Given the description of an element on the screen output the (x, y) to click on. 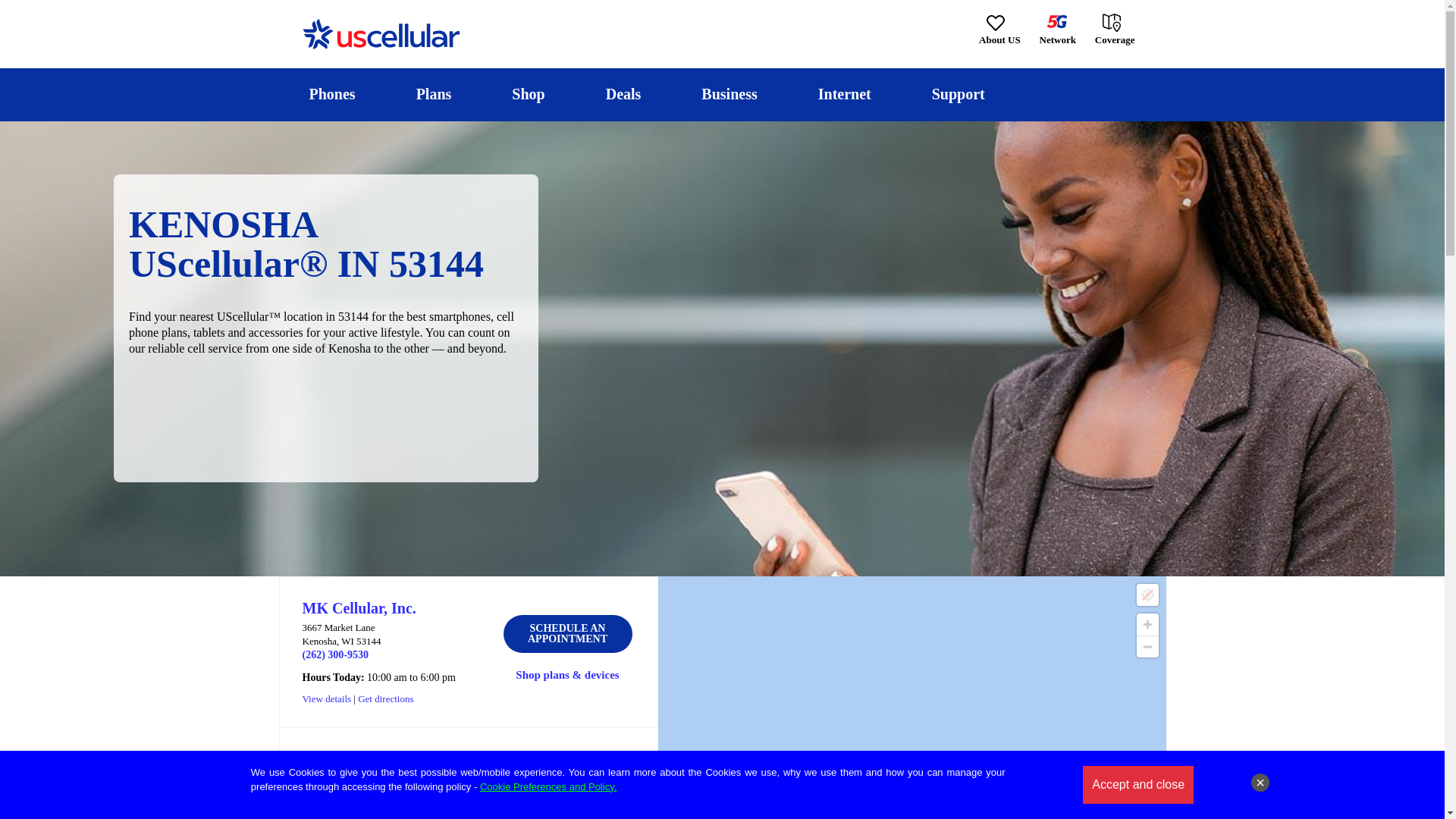
Shop (528, 94)
Coverage (1115, 29)
MK Cellular, Inc. (357, 607)
About US (999, 30)
Business (729, 94)
Zoom in (1146, 624)
Internet (844, 94)
Get directions (385, 698)
Phones (332, 94)
View details (325, 698)
Plans (433, 94)
Deals (623, 94)
Support (957, 94)
SCHEDULE AN APPOINTMENT (567, 633)
Find my location (1146, 594)
